Given the description of an element on the screen output the (x, y) to click on. 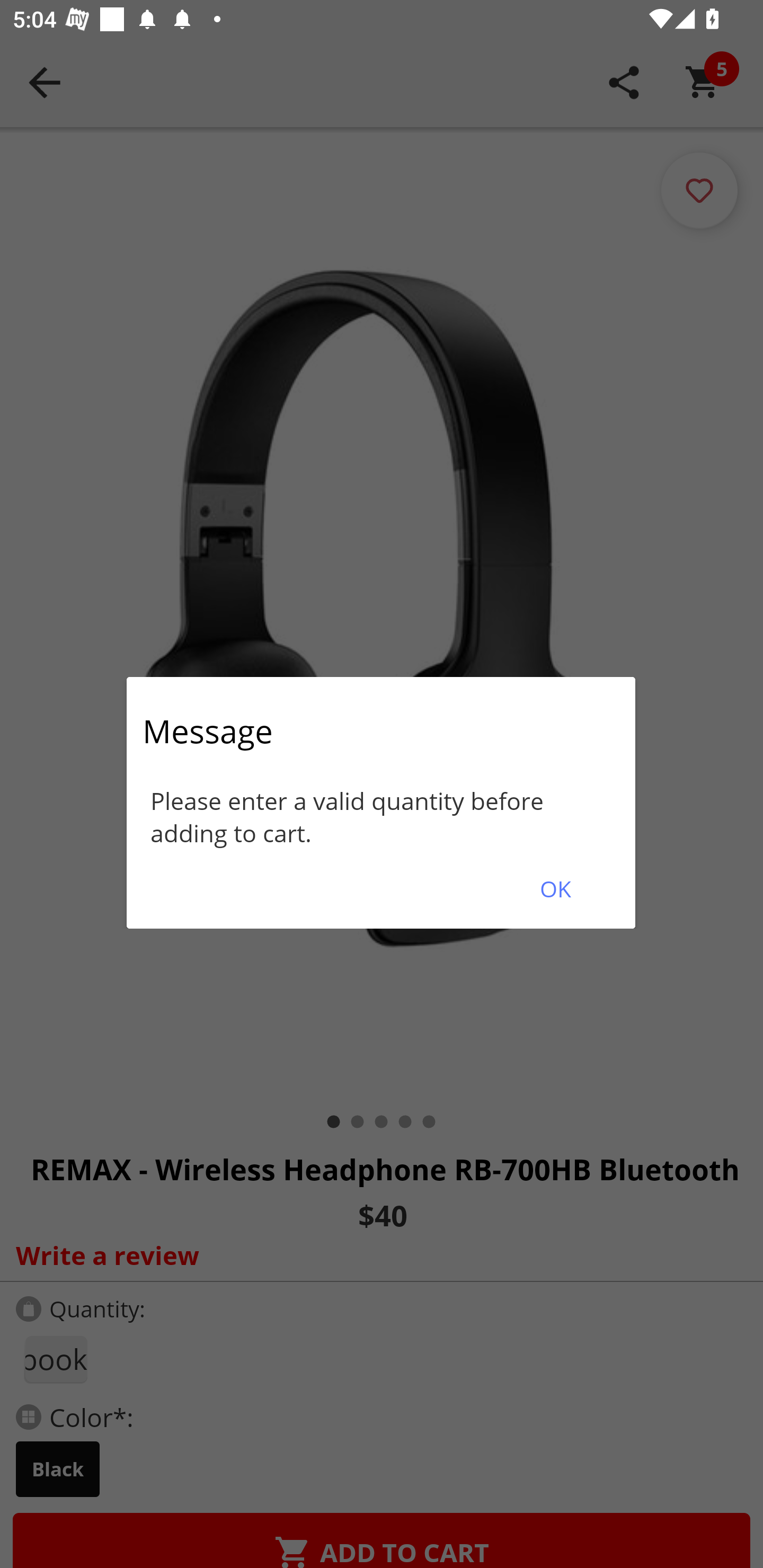
OK (555, 888)
